Given the description of an element on the screen output the (x, y) to click on. 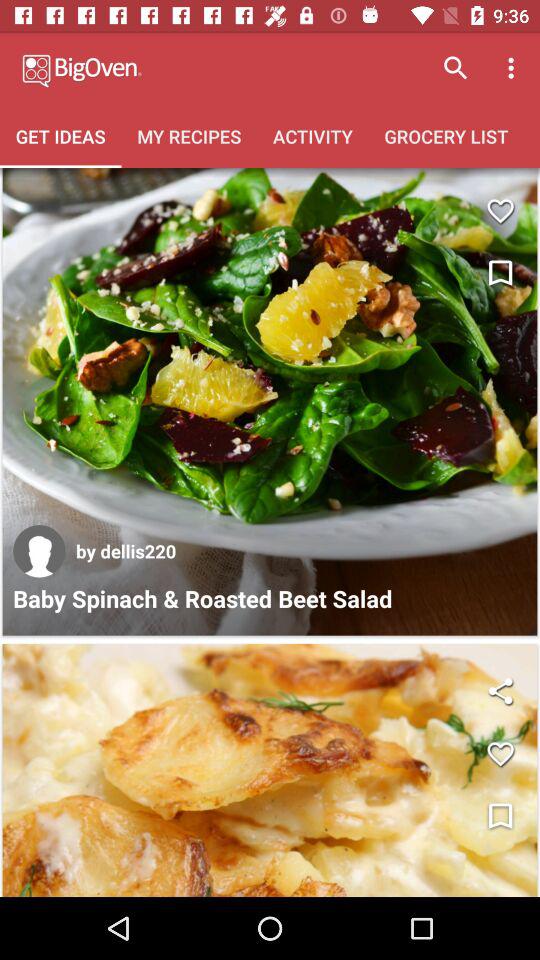
turn off icon above the grocery list (455, 67)
